Given the description of an element on the screen output the (x, y) to click on. 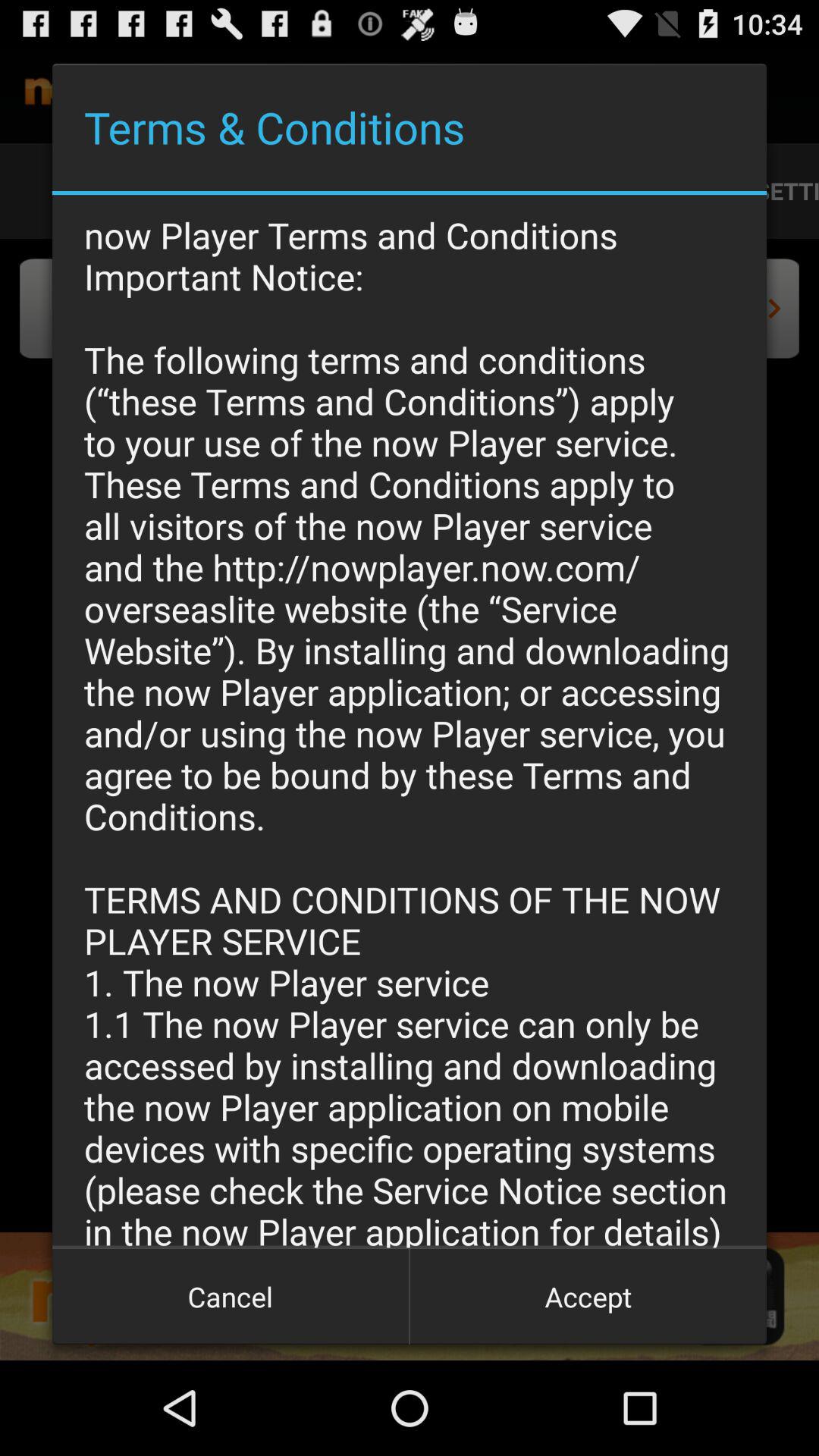
turn on item below now player terms item (230, 1296)
